Given the description of an element on the screen output the (x, y) to click on. 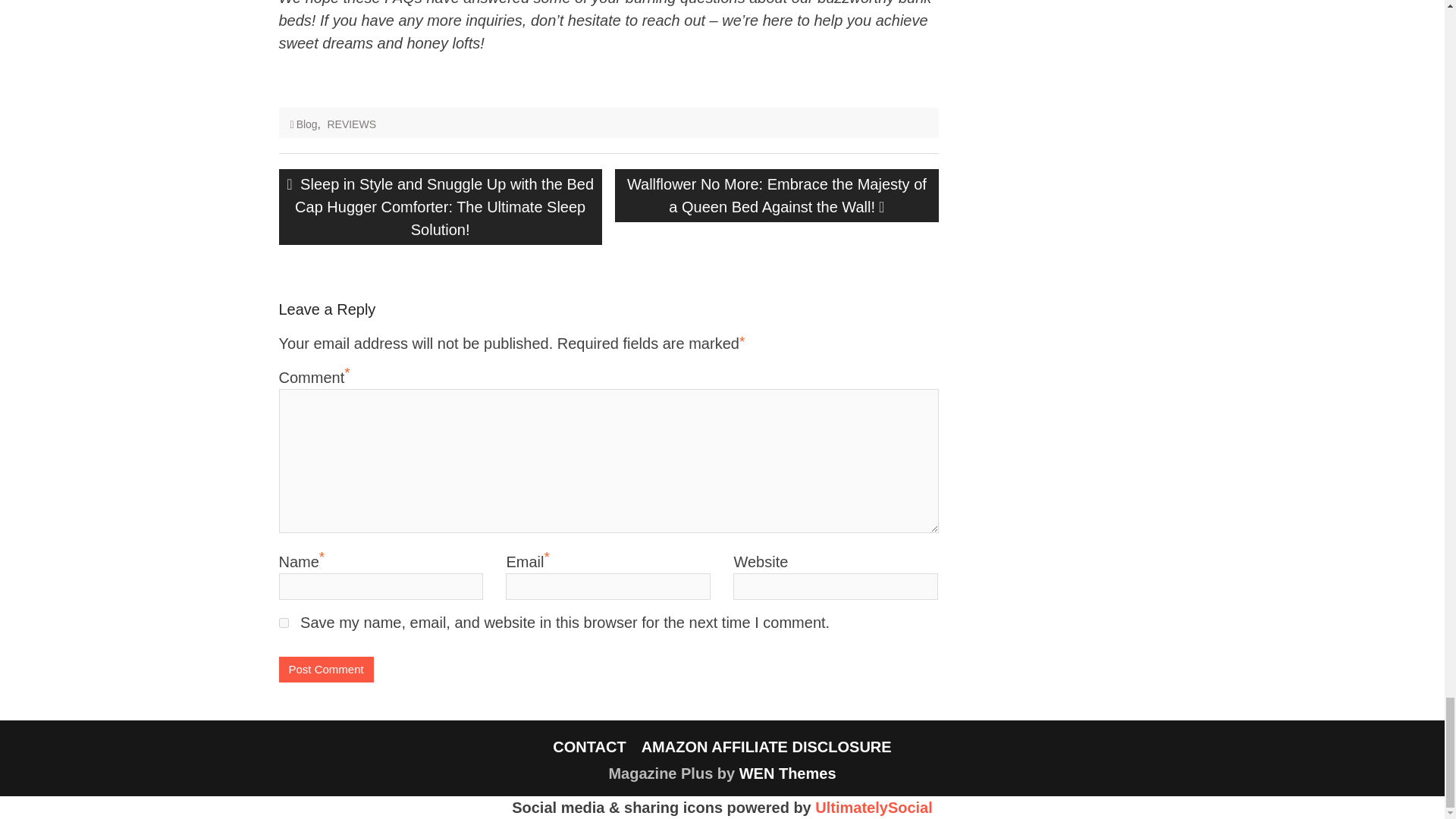
Post Comment (326, 669)
yes (283, 623)
